Given the description of an element on the screen output the (x, y) to click on. 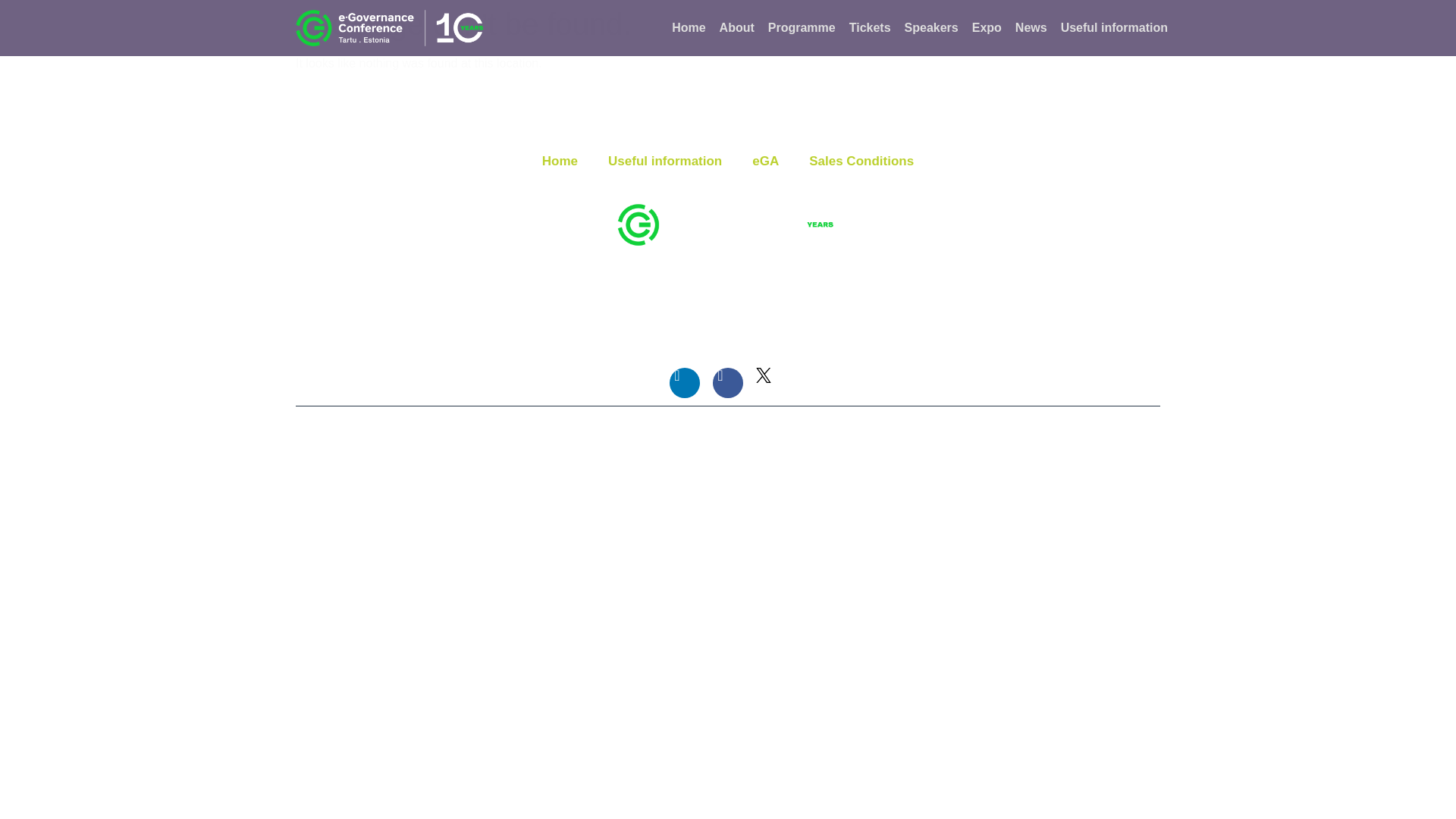
About (736, 27)
Tickets (869, 27)
News (1030, 27)
Programme (801, 27)
Home (687, 27)
Useful information (1114, 27)
Speakers (931, 27)
